Given the description of an element on the screen output the (x, y) to click on. 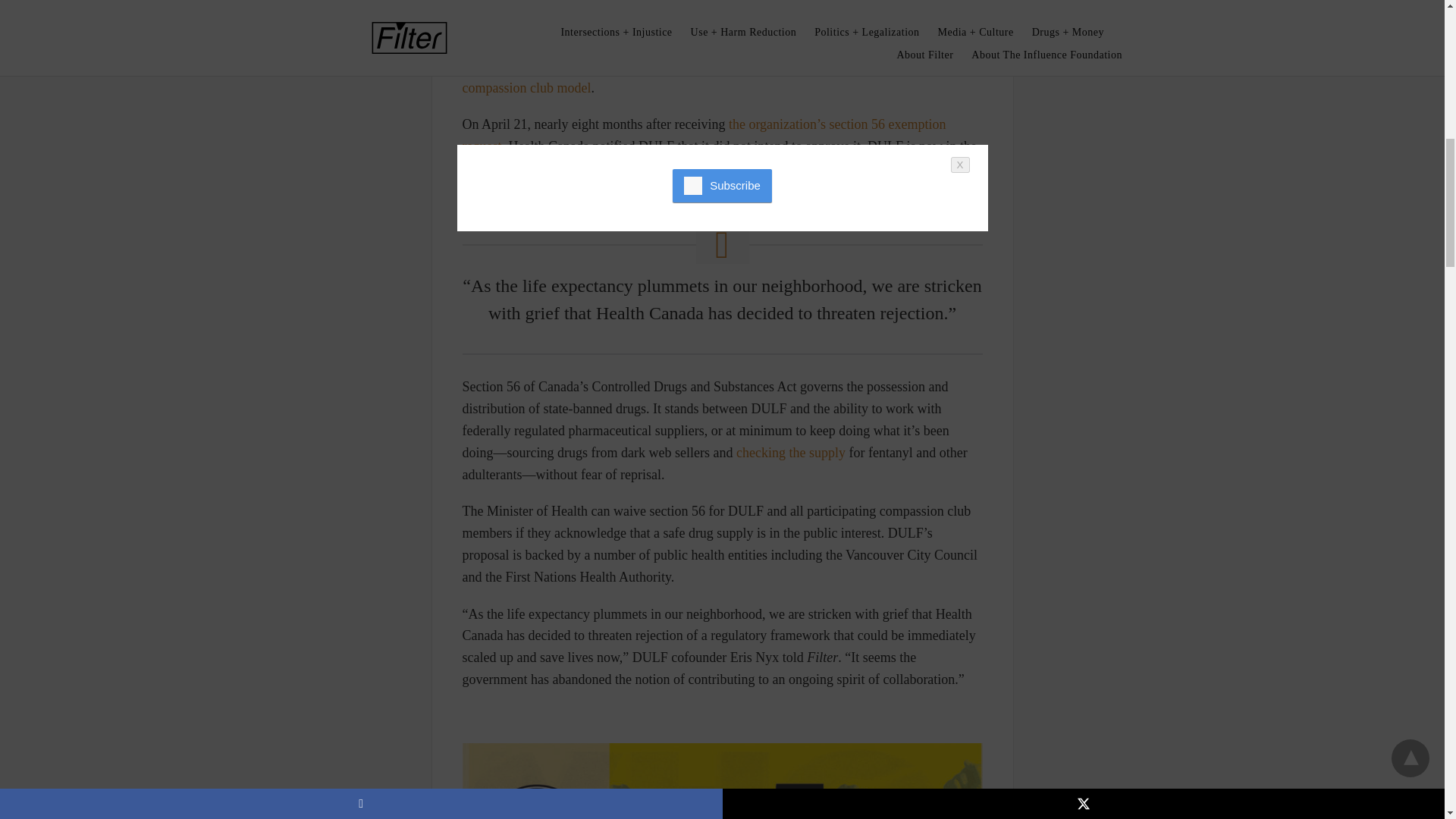
checking the supply (790, 452)
relitigating its request (583, 168)
compassion club model (527, 87)
